Given the description of an element on the screen output the (x, y) to click on. 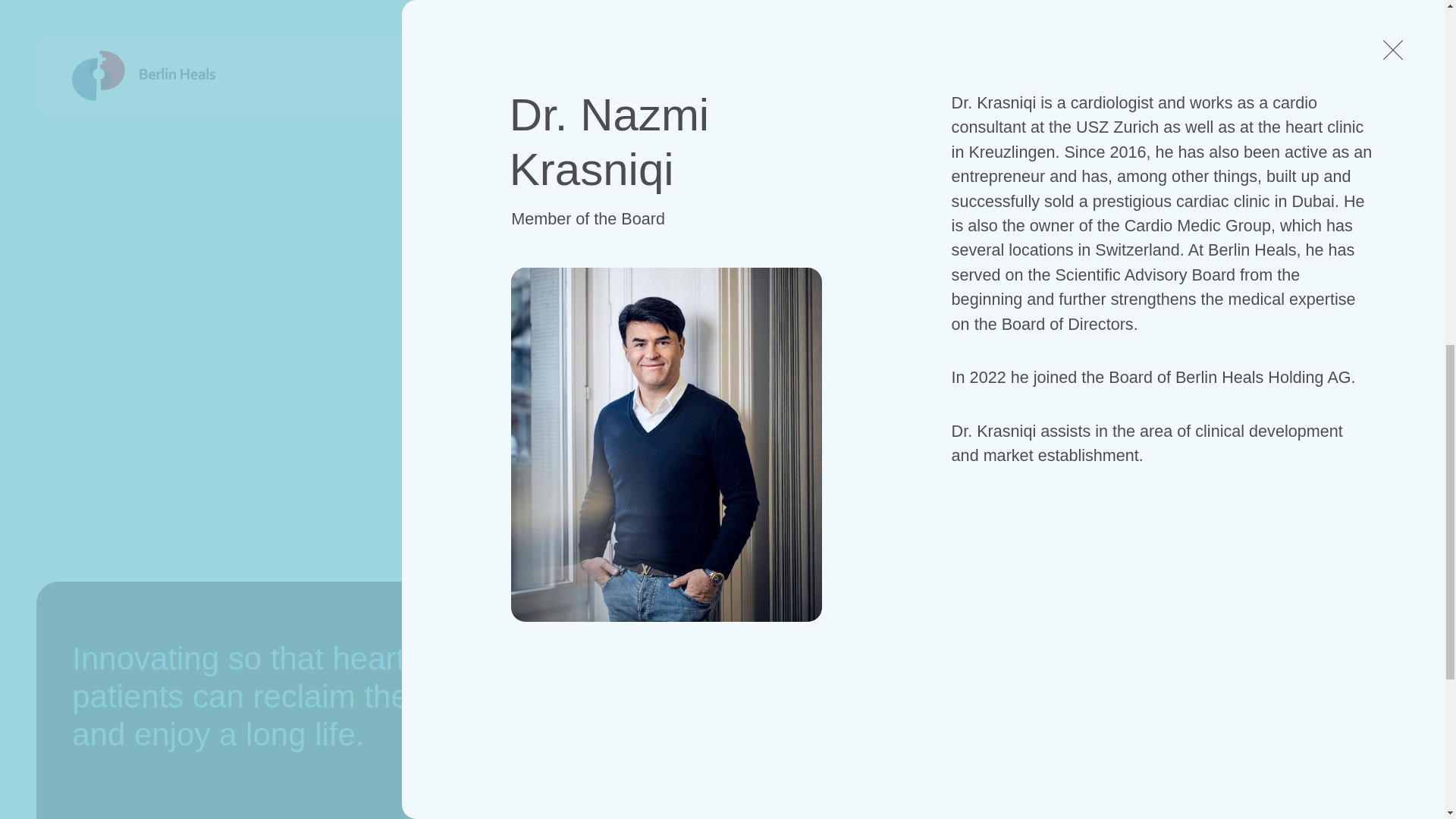
Our solution (994, 699)
Jobs (747, 737)
Contact (758, 699)
Heart Failure (997, 737)
LinkedIn (1200, 737)
Twitter (1194, 699)
Studies (977, 775)
